Given the description of an element on the screen output the (x, y) to click on. 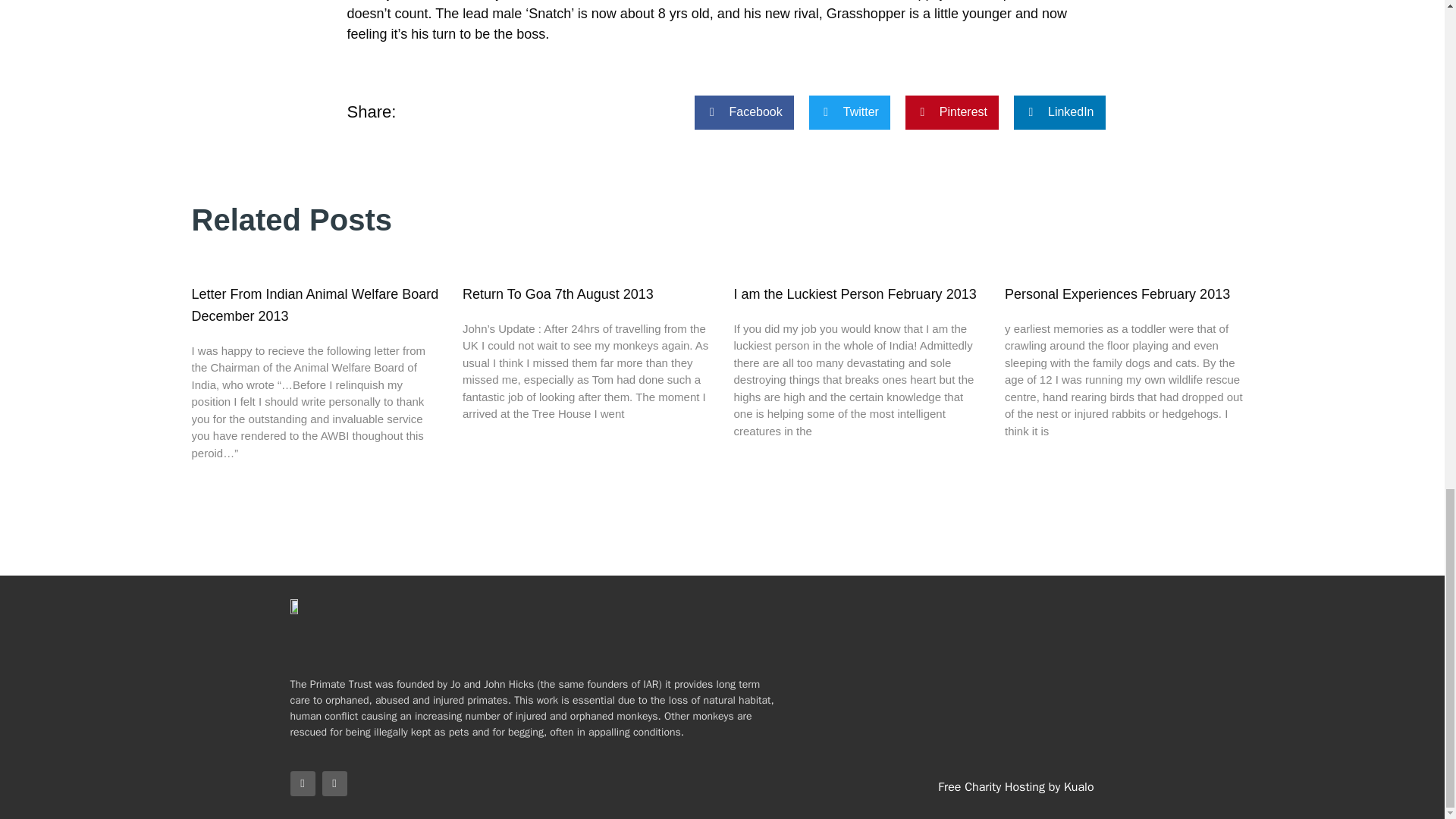
Free Charity Hosting (1015, 787)
Personal Experiences February 2013 (1117, 294)
Free Charity Hosting by Kualo (1015, 787)
I am the Luckiest Person February 2013 (854, 294)
Letter From Indian Animal Welfare Board December 2013 (314, 304)
Return To Goa 7th August 2013 (558, 294)
